Given the description of an element on the screen output the (x, y) to click on. 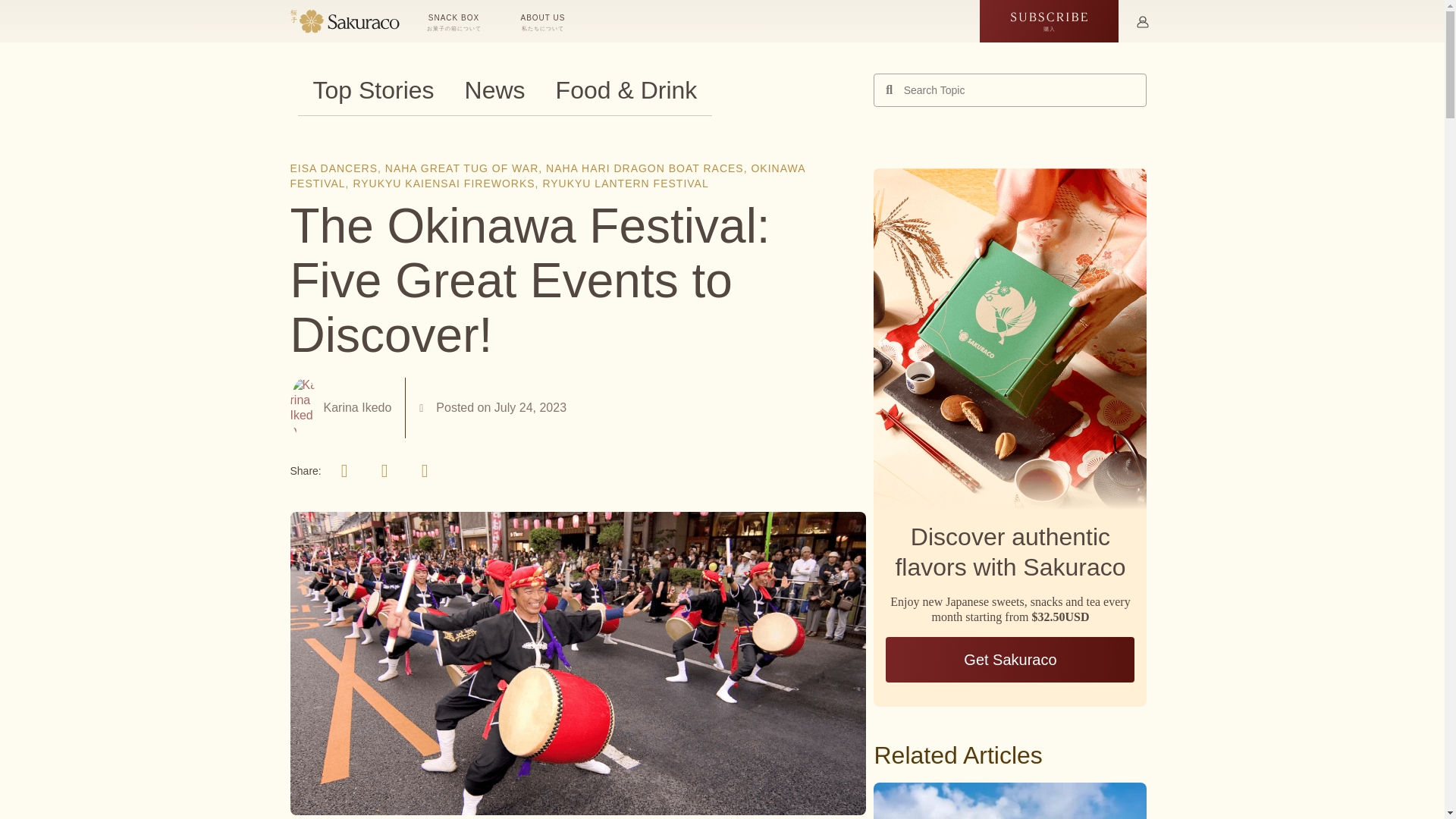
ABOUT US (544, 20)
Top Stories (372, 90)
SNACK BOX (454, 20)
News (494, 90)
Search (1018, 90)
